Given the description of an element on the screen output the (x, y) to click on. 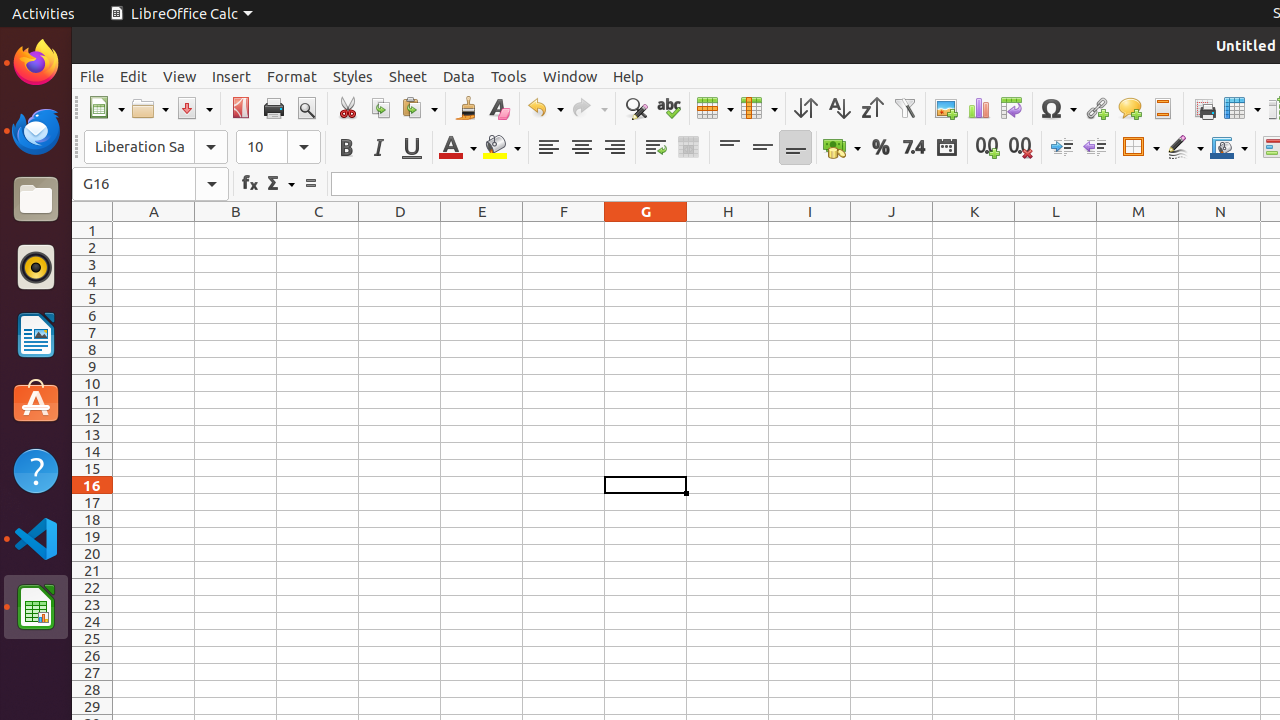
F1 Element type: table-cell (564, 230)
Print Preview Element type: toggle-button (306, 108)
J1 Element type: table-cell (892, 230)
Align Center Element type: push-button (581, 147)
Open Element type: push-button (150, 108)
